Given the description of an element on the screen output the (x, y) to click on. 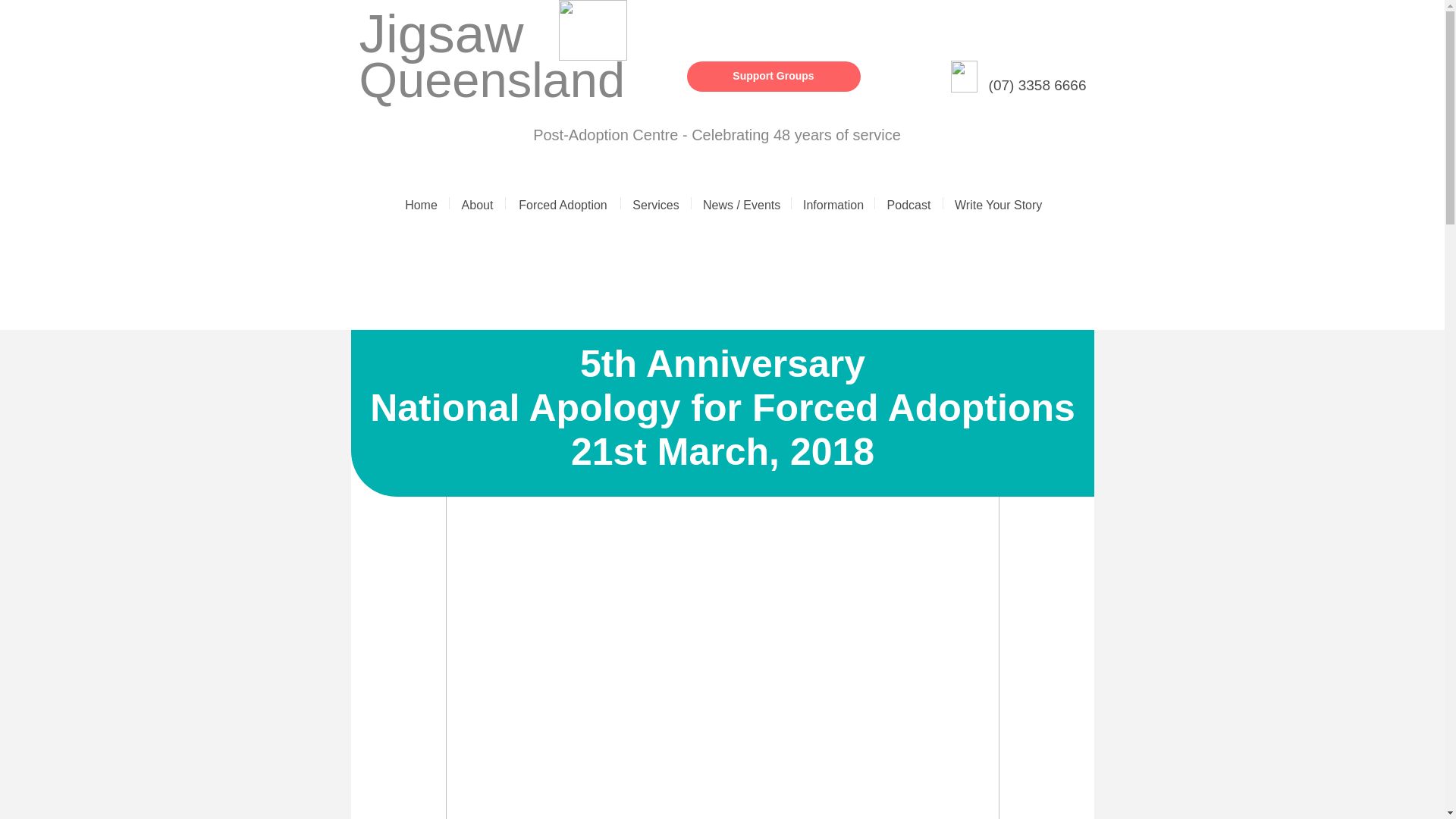
Forced Adoption (562, 203)
Queensland (492, 79)
Home (420, 203)
About (477, 203)
Support Groups (773, 76)
Information (833, 203)
Services (655, 203)
Jigsaw (441, 33)
